Given the description of an element on the screen output the (x, y) to click on. 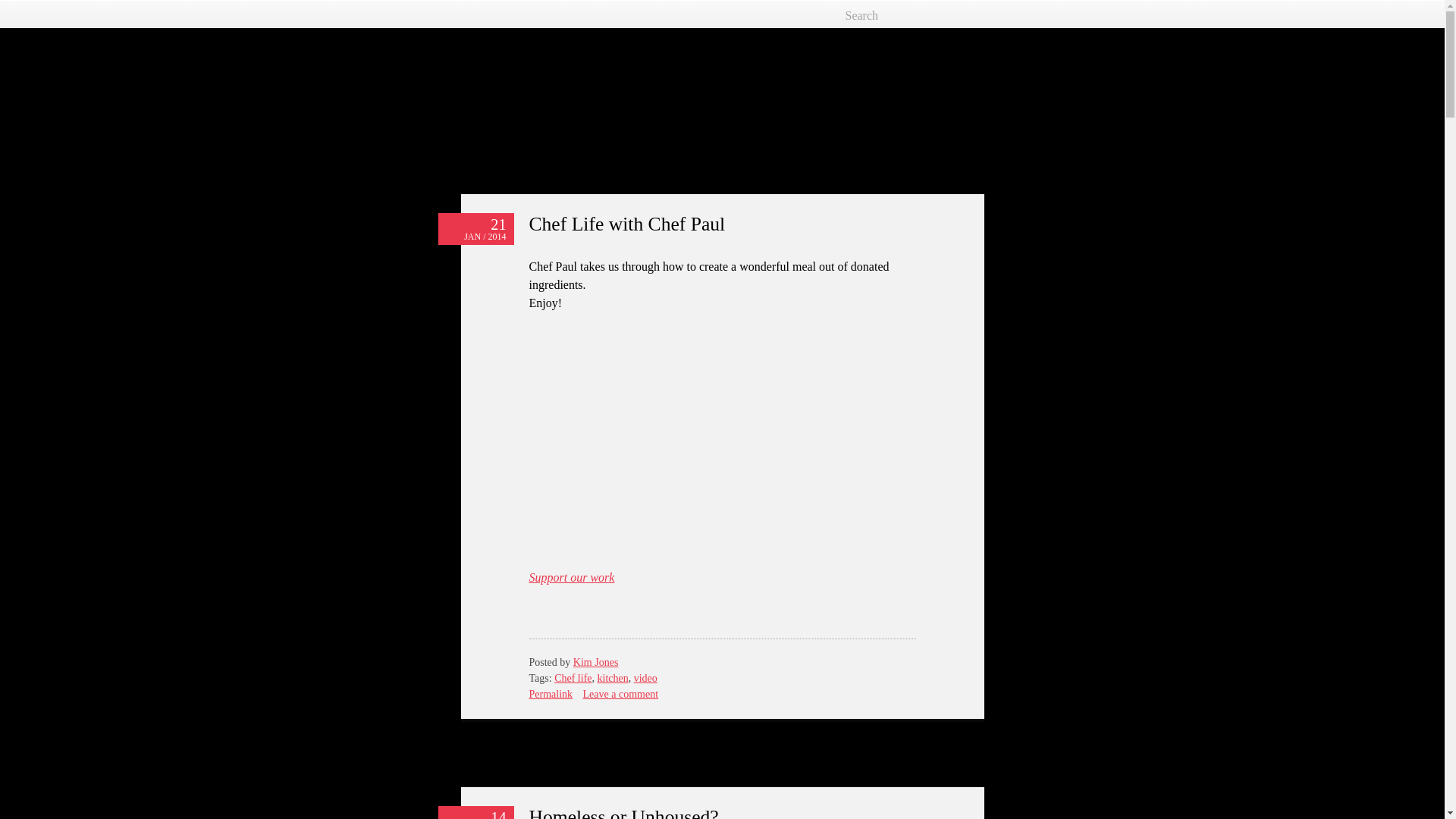
Permalink to Homeless or Unhoused? (624, 812)
View all posts by Kim Jones (595, 662)
Search (903, 15)
Permalink to Chef Life with Chef Paul (551, 694)
Permalink to Chef Life with Chef Paul (627, 223)
Inside OSL (528, 84)
Support our work (571, 576)
Homeless or Unhoused? (624, 812)
Permalink (551, 694)
Chef Life with Chef Paul (627, 223)
